Given the description of an element on the screen output the (x, y) to click on. 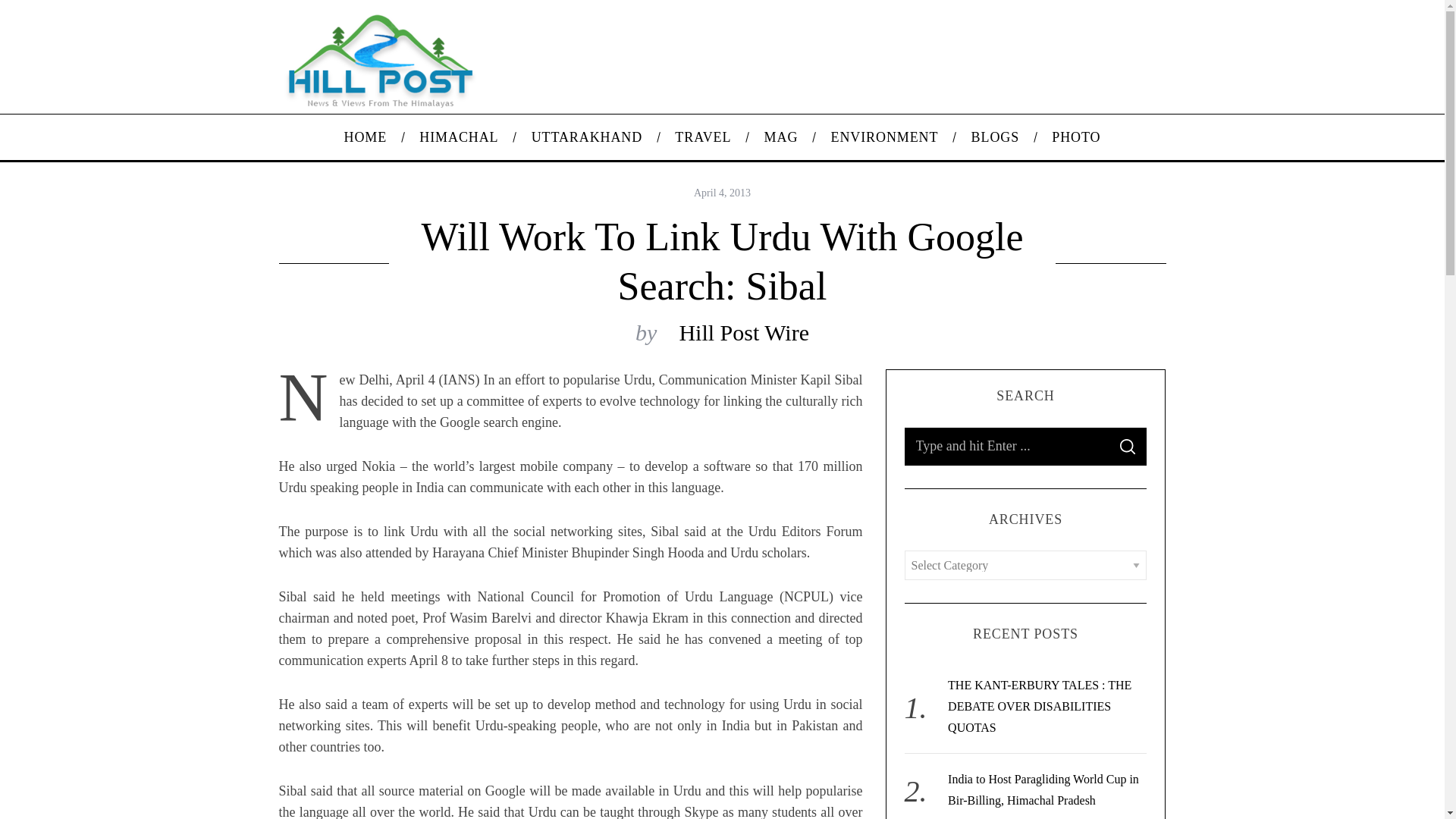
THE KANT-ERBURY TALES : THE DEBATE OVER DISABILITIES QUOTAS (1039, 705)
SEARCH (1127, 446)
